Given the description of an element on the screen output the (x, y) to click on. 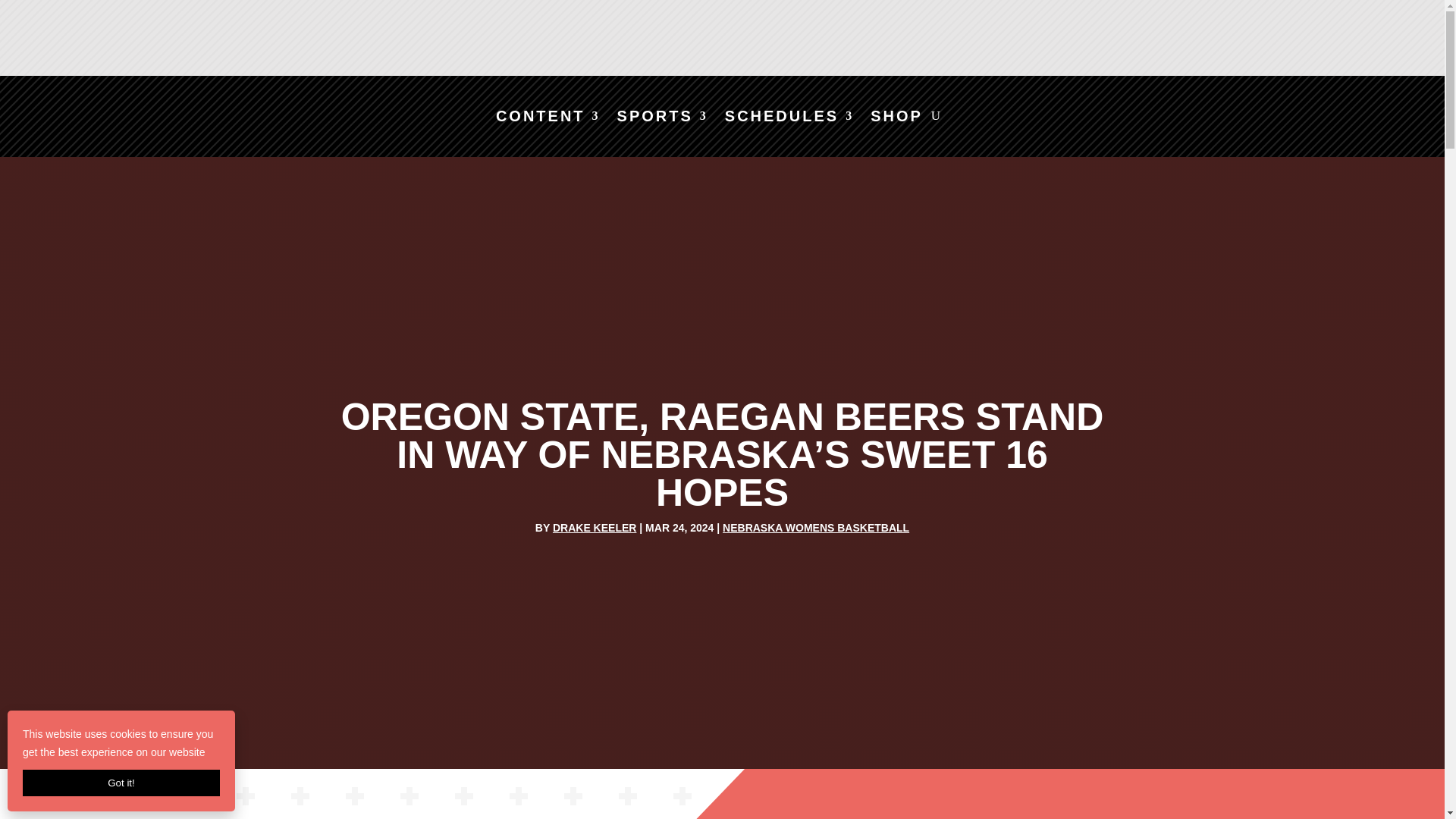
Mavericks All Access (610, 40)
NEB Pros (1280, 40)
Bluejay Breakdown (833, 40)
SCHEDULES (789, 118)
NEB Preps (1055, 40)
CONTENT (547, 118)
Posts by Drake Keeler (594, 527)
SPORTS (662, 118)
SHOP (896, 118)
